Given the description of an element on the screen output the (x, y) to click on. 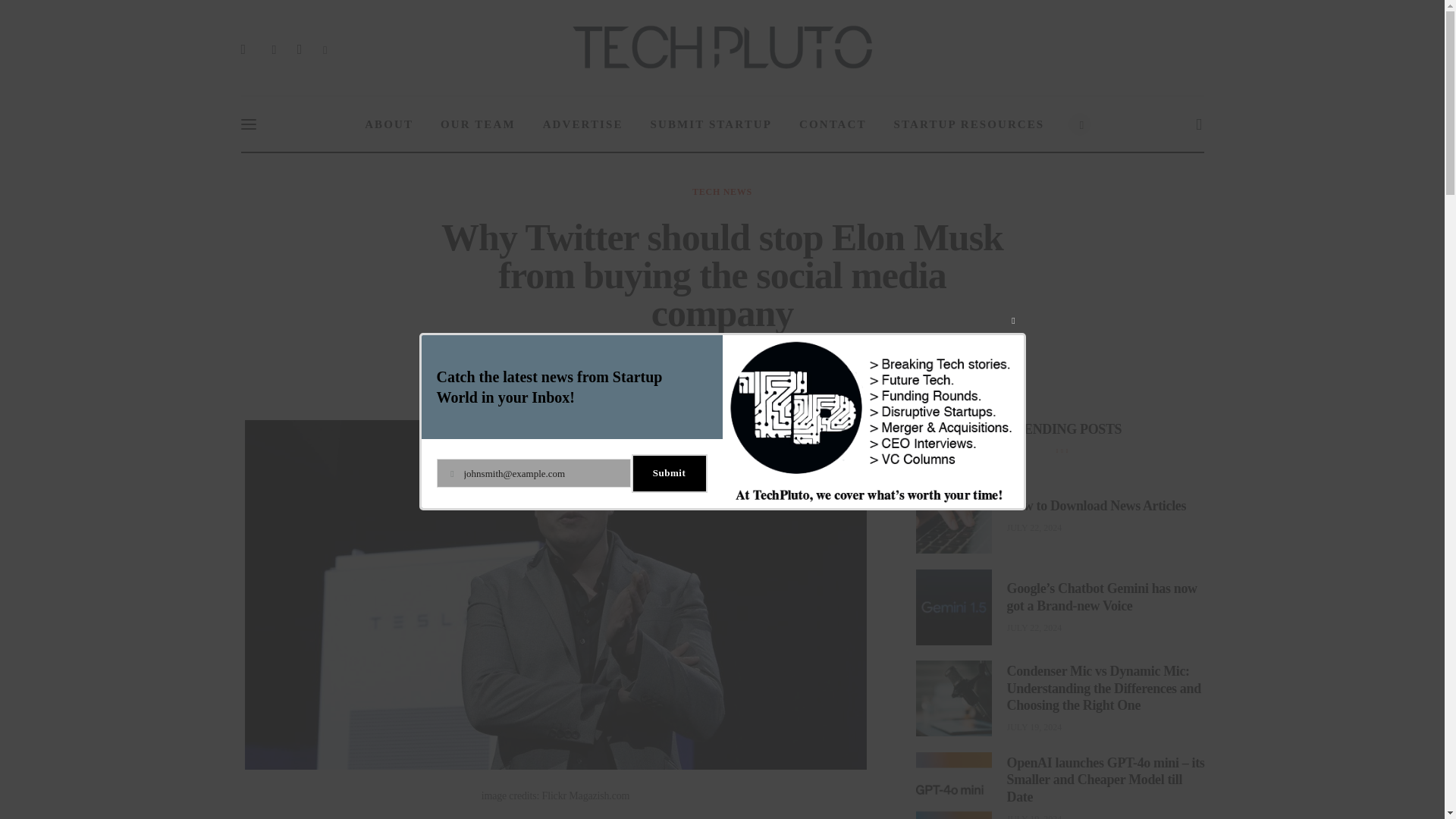
OUR TEAM (477, 124)
SUBMIT STARTUP (711, 124)
CONTACT (833, 124)
TECH NEWS (722, 191)
STARTUP RESOURCES (969, 124)
7 MIN (816, 357)
ABOUT (388, 124)
ADVERTISE (672, 357)
